Given the description of an element on the screen output the (x, y) to click on. 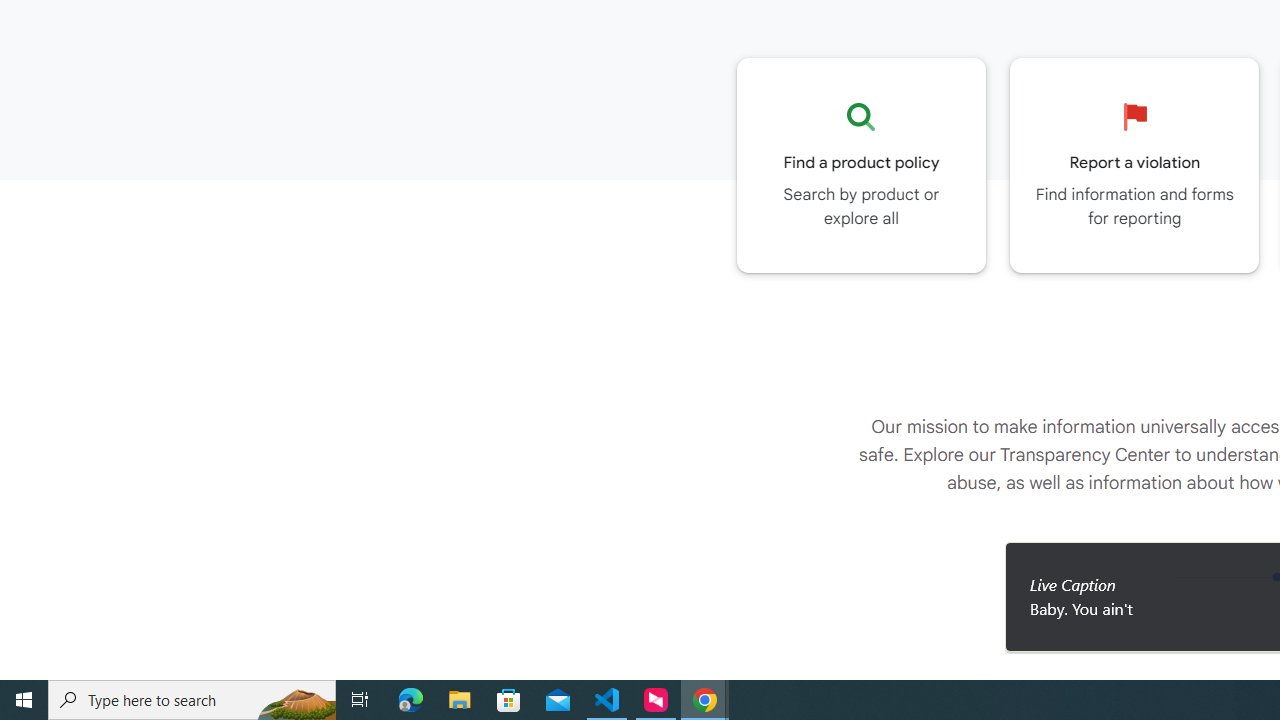
Go to the Product policy page (861, 165)
Go to the Reporting and appeals page (1134, 165)
